Given the description of an element on the screen output the (x, y) to click on. 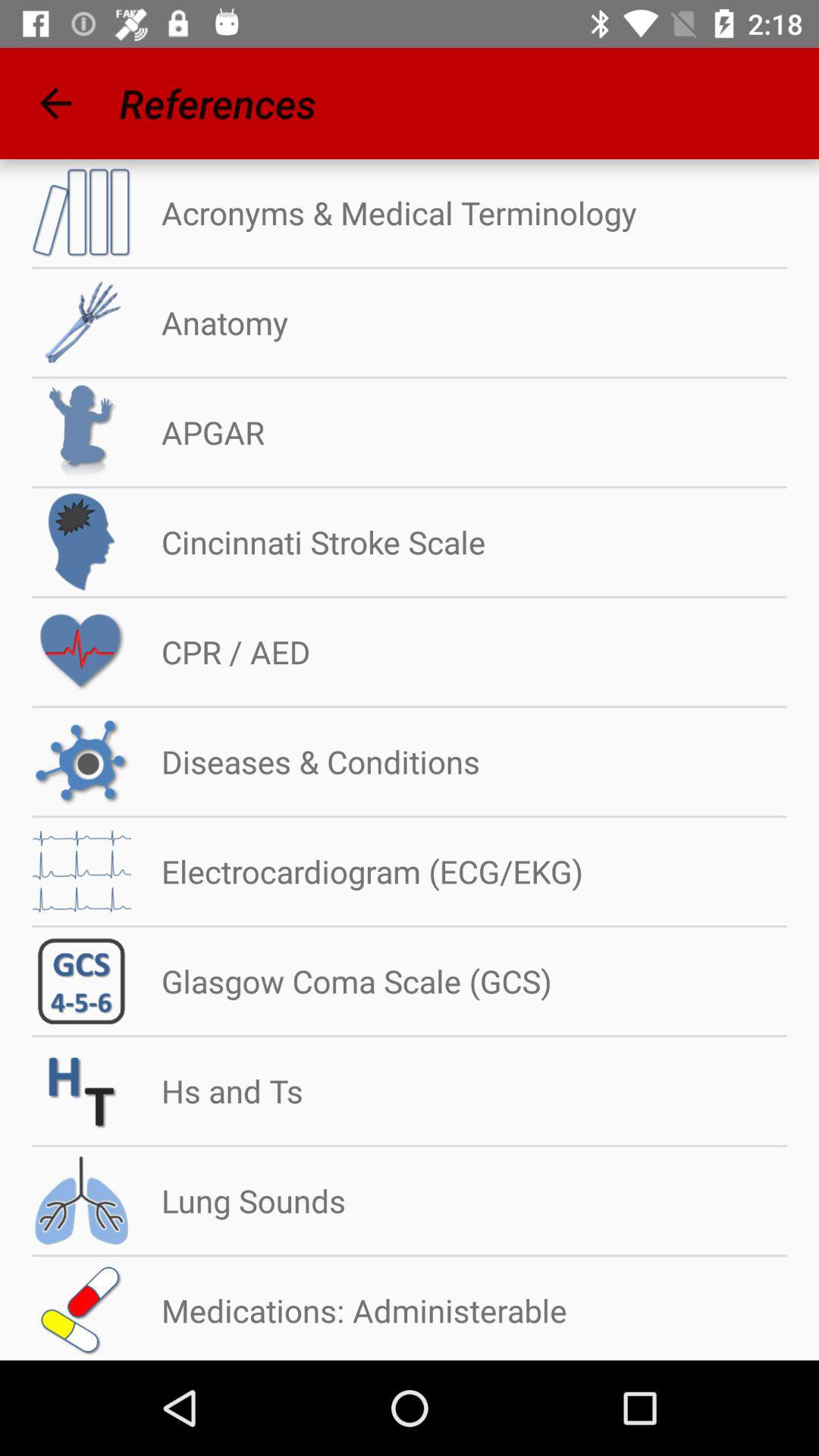
turn off icon next to references app (55, 103)
